Given the description of an element on the screen output the (x, y) to click on. 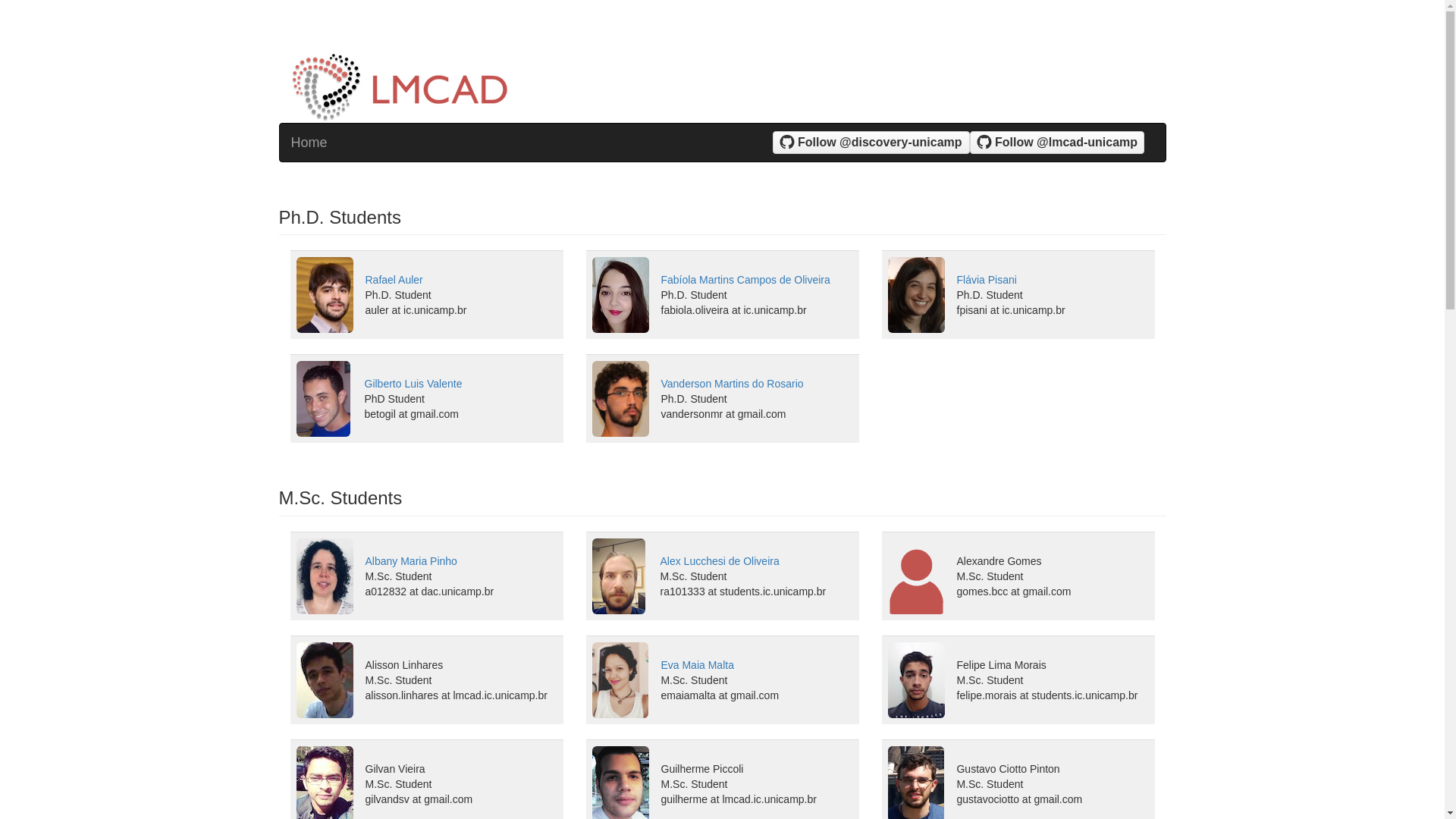
Eva Maia Malta Element type: text (696, 664)
Vanderson Martins do Rosario Element type: text (732, 383)
Gilberto Luis Valente Element type: text (412, 383)
Rafael Auler Element type: text (394, 279)
Home Element type: text (308, 142)
Albany Maria Pinho Element type: text (411, 561)
Alex Lucchesi de Oliveira Element type: text (718, 561)
